Given the description of an element on the screen output the (x, y) to click on. 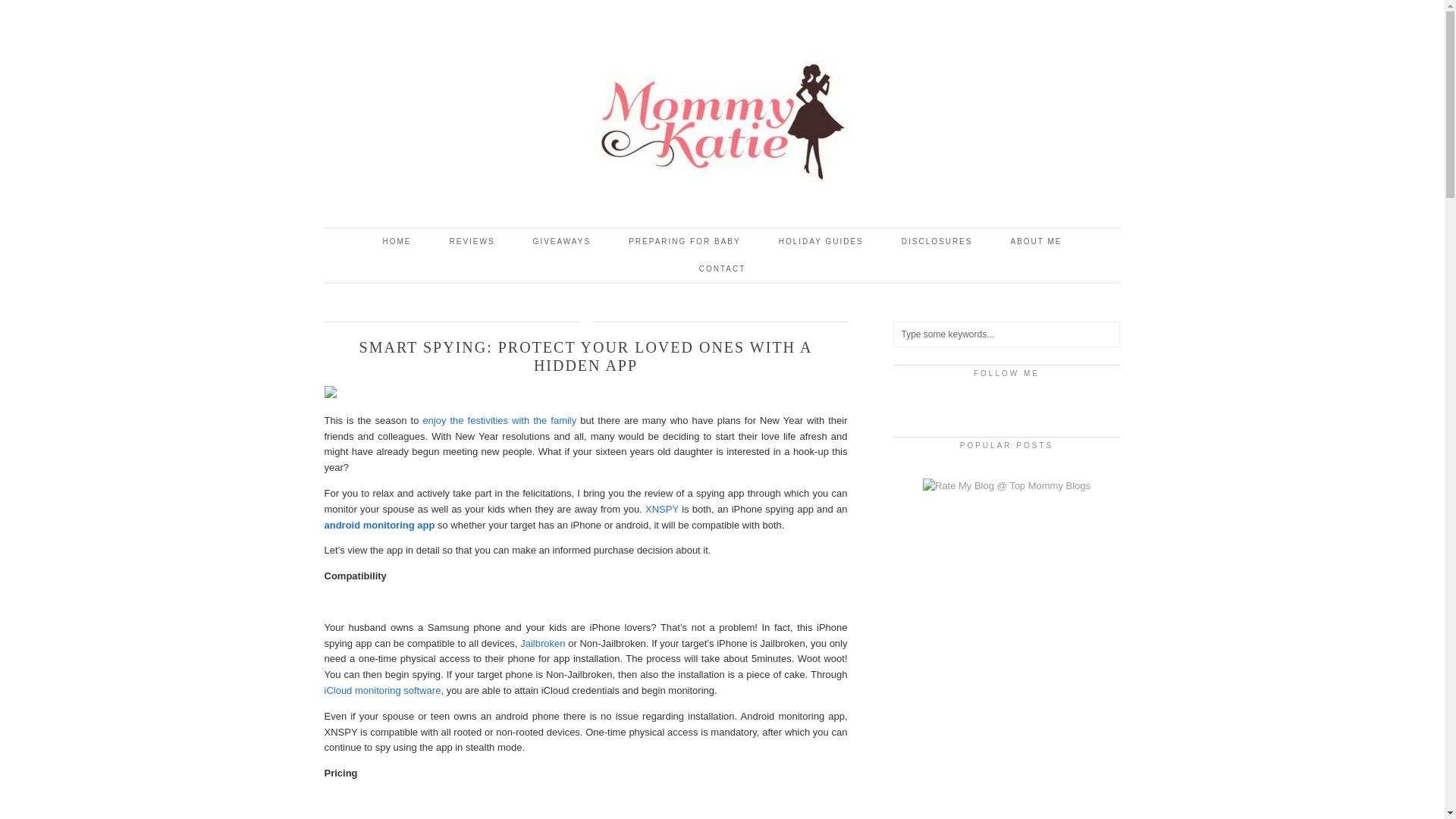
HOME (395, 241)
PREPARING FOR BABY (685, 241)
CONTACT (722, 268)
HOLIDAY GUIDES (821, 241)
android monitoring app (379, 524)
ABOUT ME (1035, 241)
REVIEWS (471, 241)
enjoy the festivities with the family (499, 419)
Search for: (1007, 334)
XNSPY (661, 509)
